Given the description of an element on the screen output the (x, y) to click on. 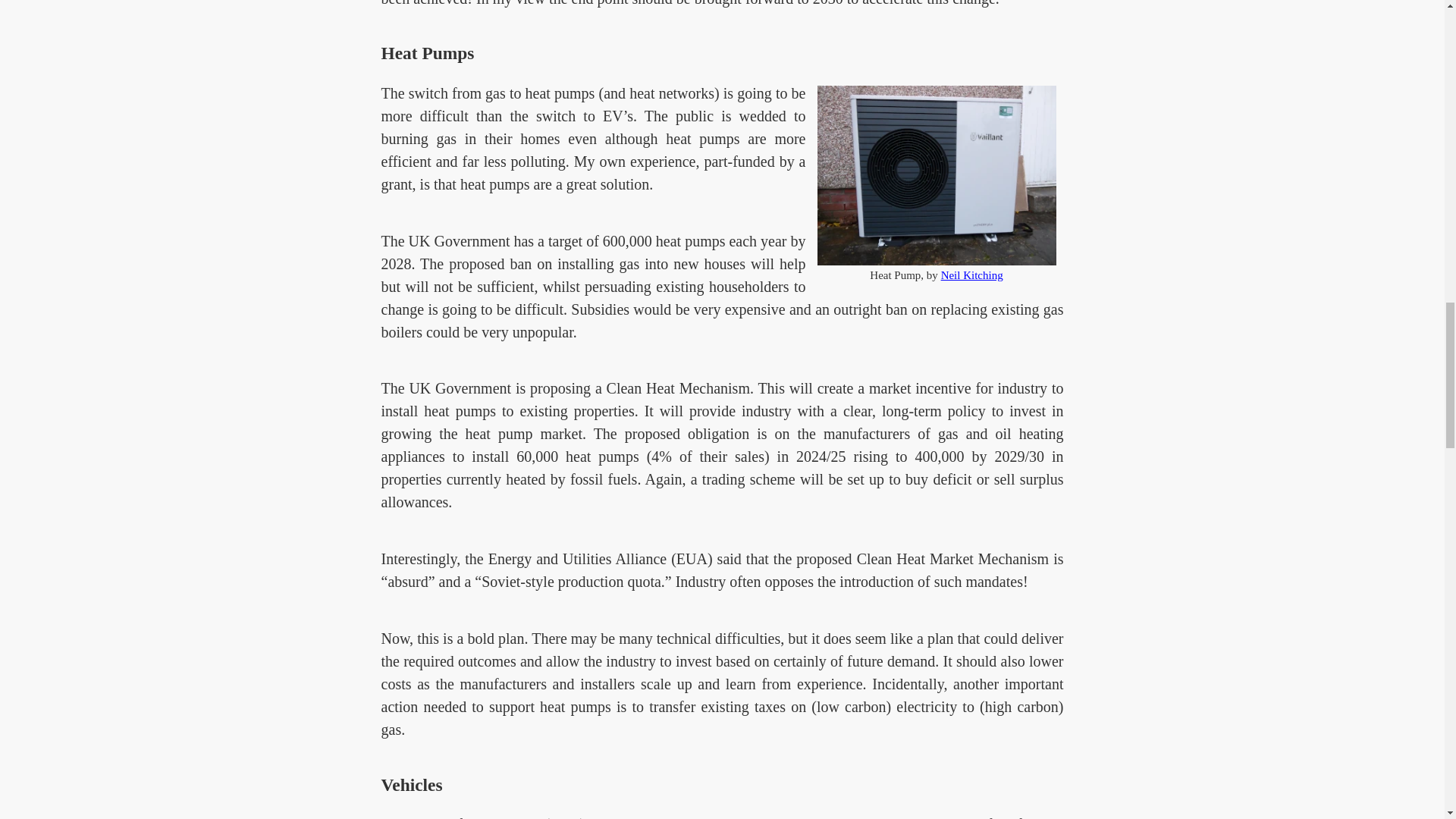
Neil Kitching (971, 274)
